Given the description of an element on the screen output the (x, y) to click on. 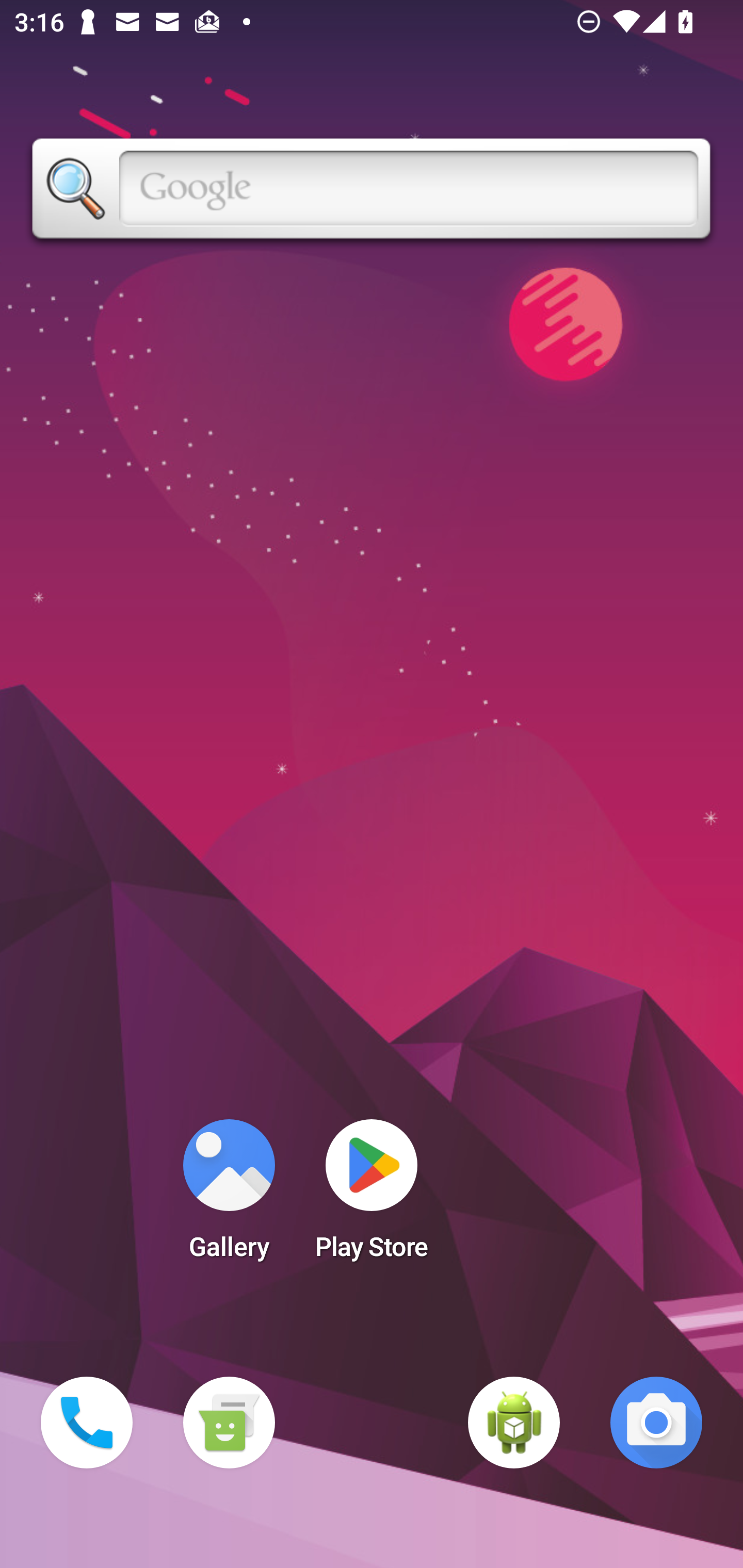
Gallery (228, 1195)
Play Store (371, 1195)
Phone (86, 1422)
Messaging (228, 1422)
WebView Browser Tester (513, 1422)
Camera (656, 1422)
